Given the description of an element on the screen output the (x, y) to click on. 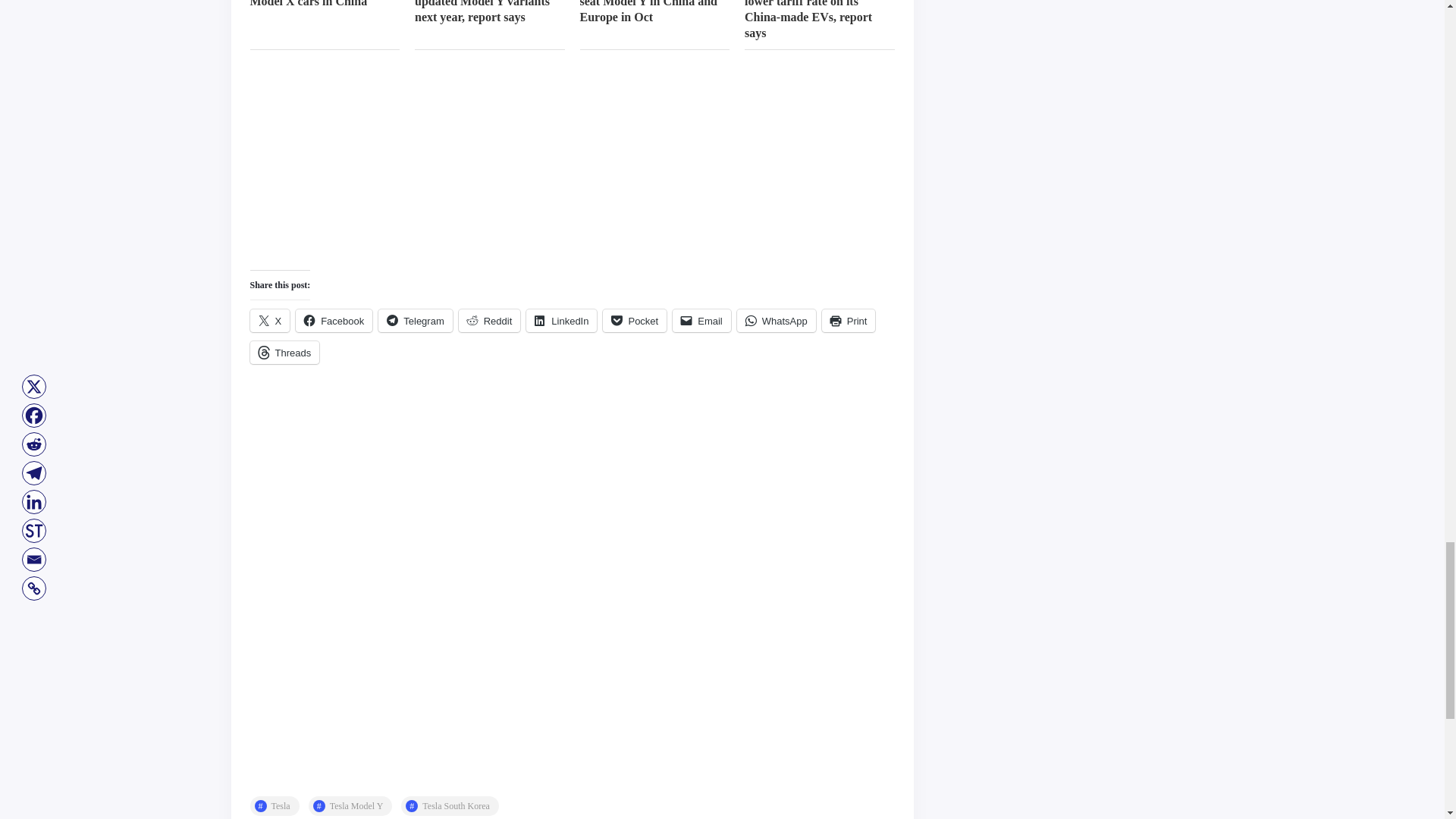
Click to share on Threads (285, 352)
Click to email a link to a friend (701, 320)
Click to share on Telegram (414, 320)
Tesla recalls 870 imported Model X cars in China (317, 4)
Click to share on LinkedIn (560, 320)
X (269, 320)
Click to share on WhatsApp (775, 320)
Click to share on Facebook (333, 320)
